Given the description of an element on the screen output the (x, y) to click on. 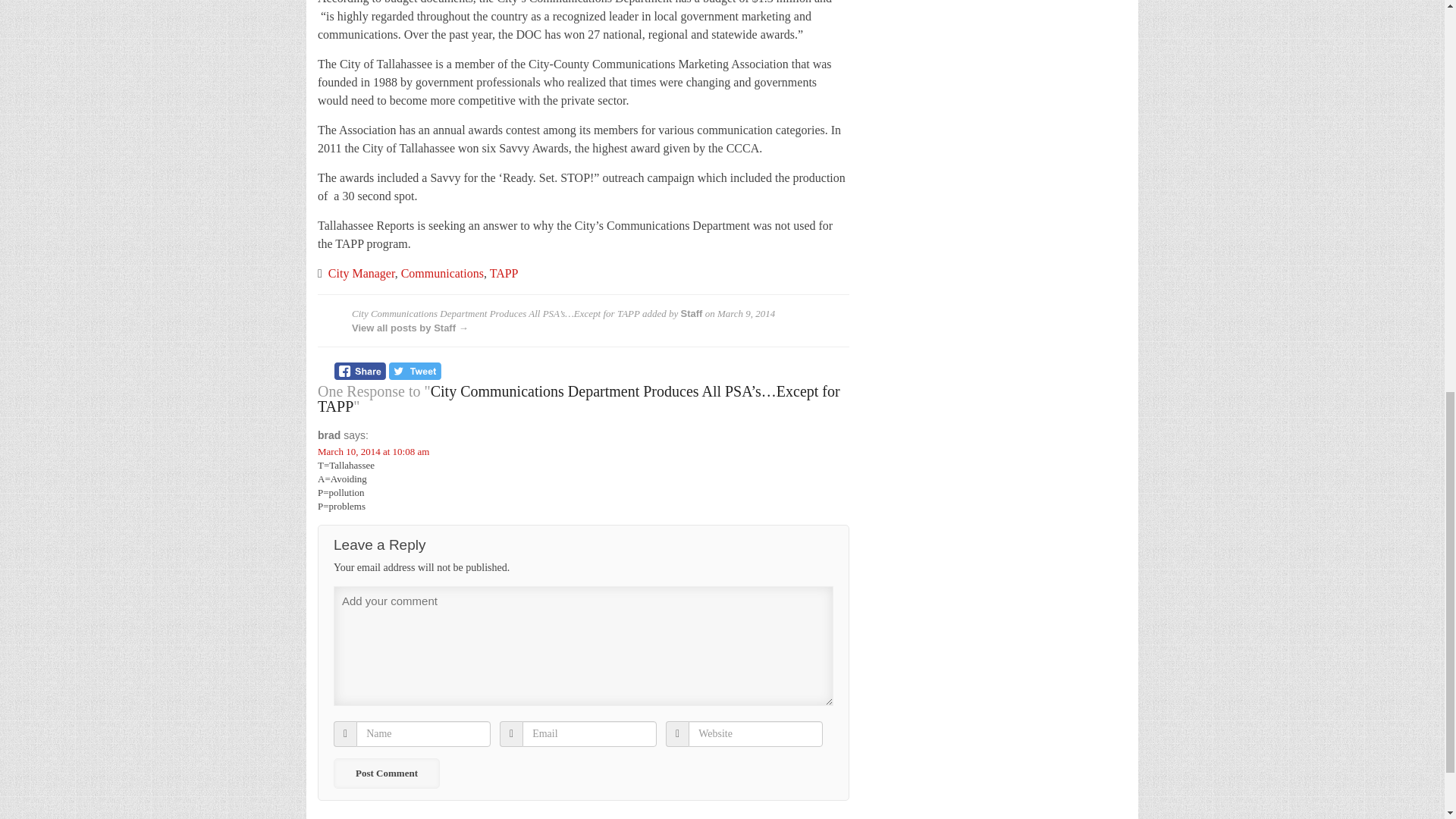
Post Comment (386, 773)
